Given the description of an element on the screen output the (x, y) to click on. 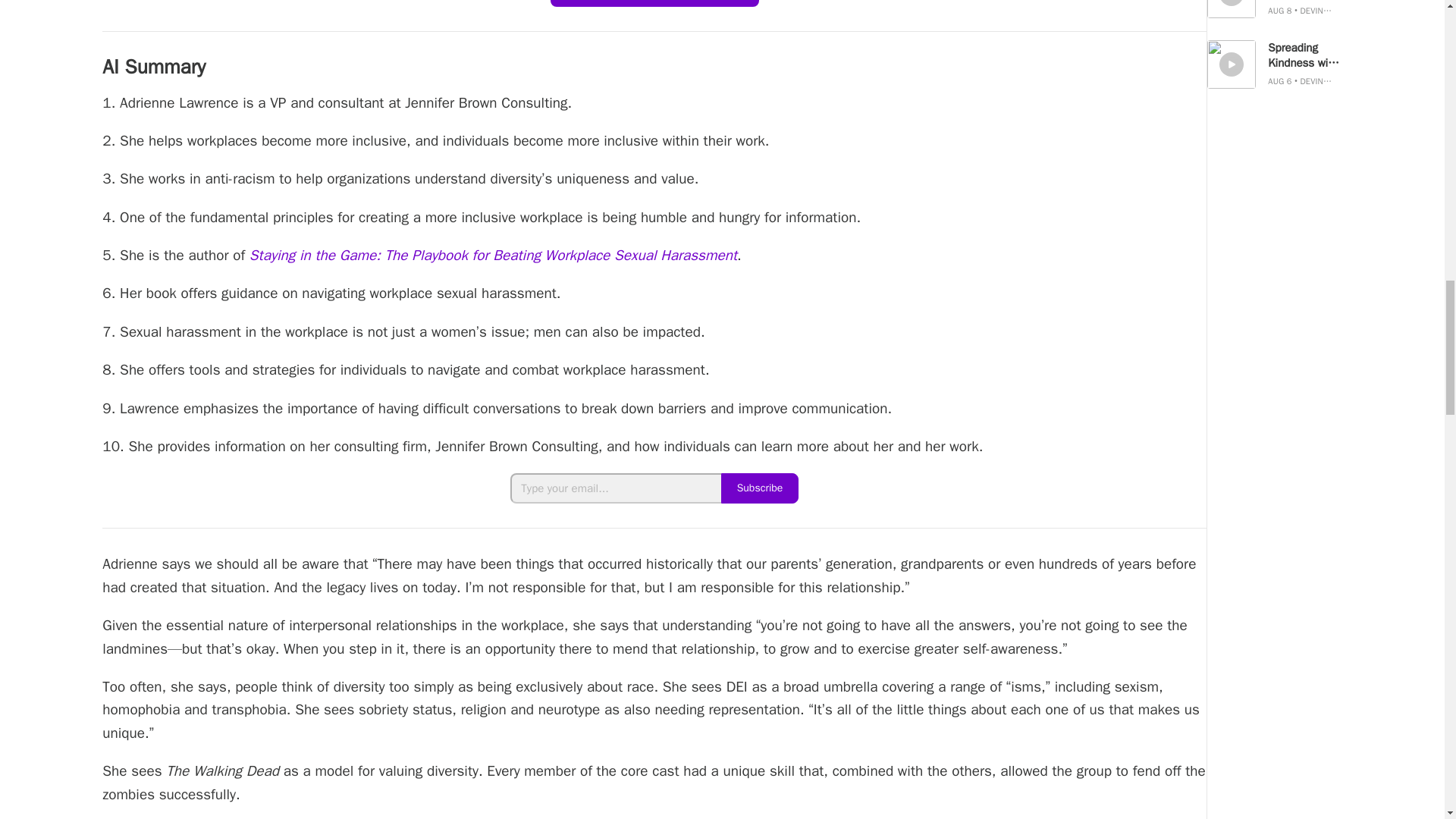
Invest in The Super Crowd, Inc., a PBC (654, 3)
Subscribe (759, 488)
